Given the description of an element on the screen output the (x, y) to click on. 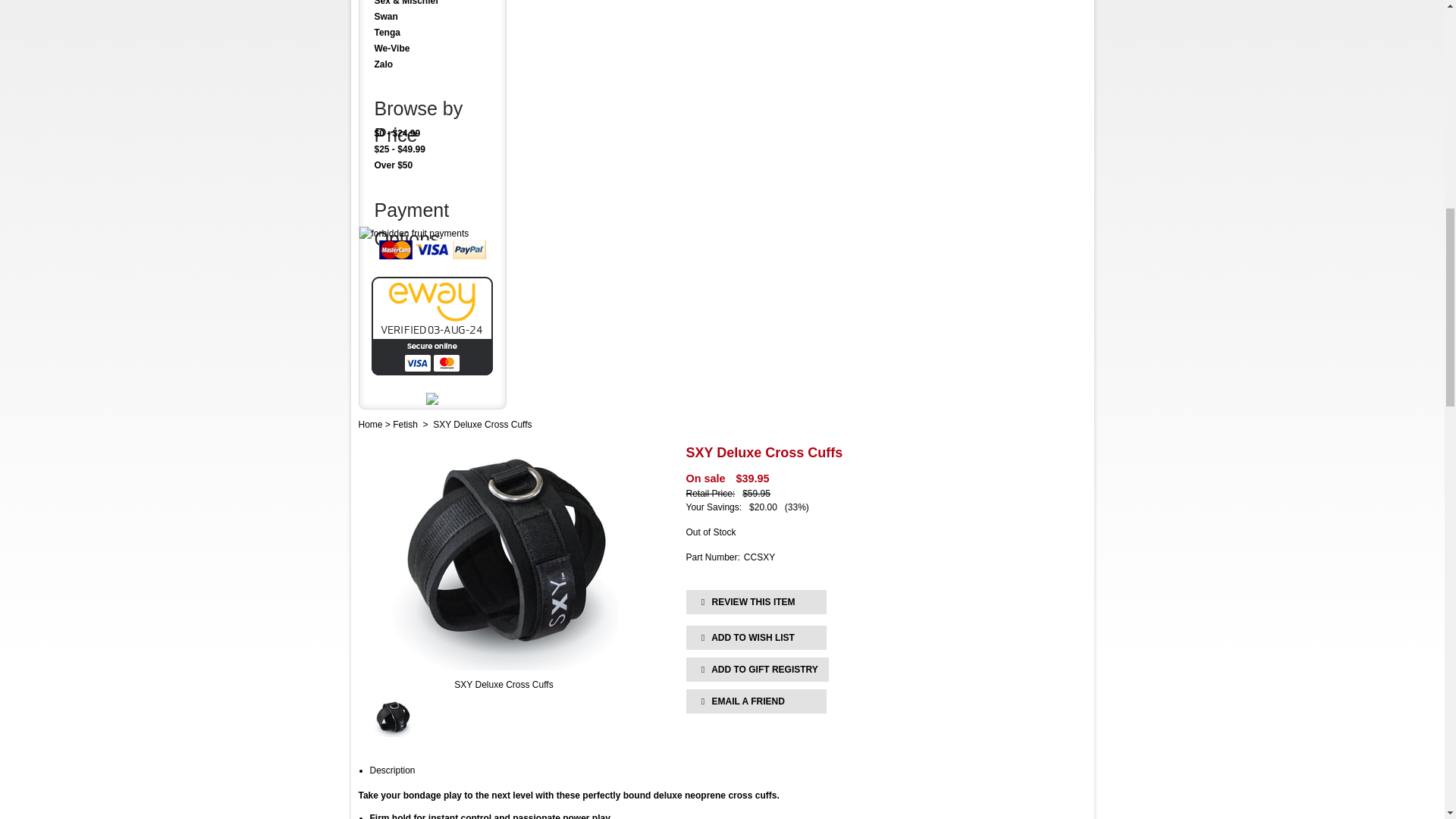
SXY Deluxe Cross Cuffs  (503, 684)
Eway Payment Gateway (432, 371)
